Given the description of an element on the screen output the (x, y) to click on. 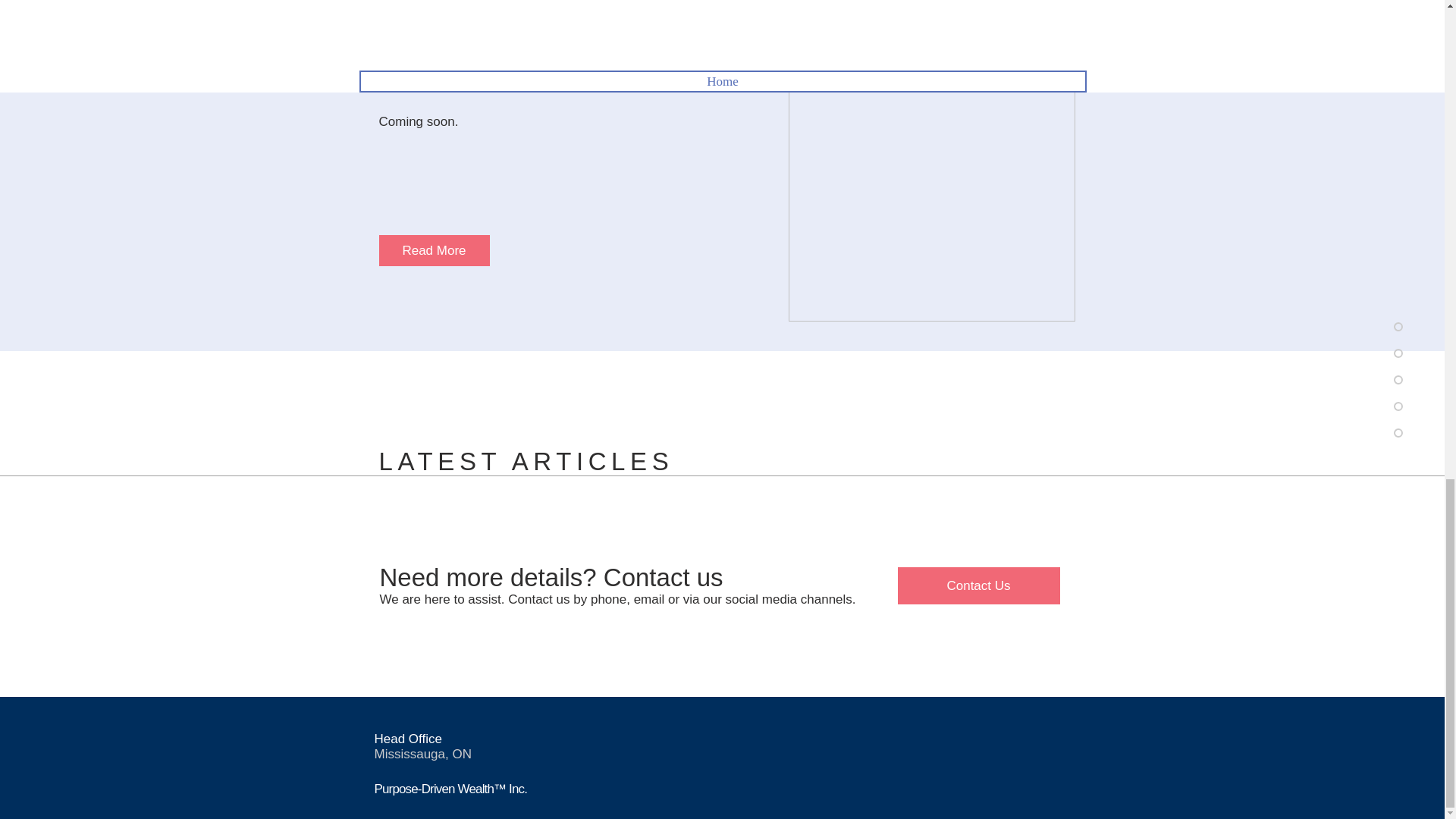
Read More (433, 250)
Contact Us (978, 585)
